Given the description of an element on the screen output the (x, y) to click on. 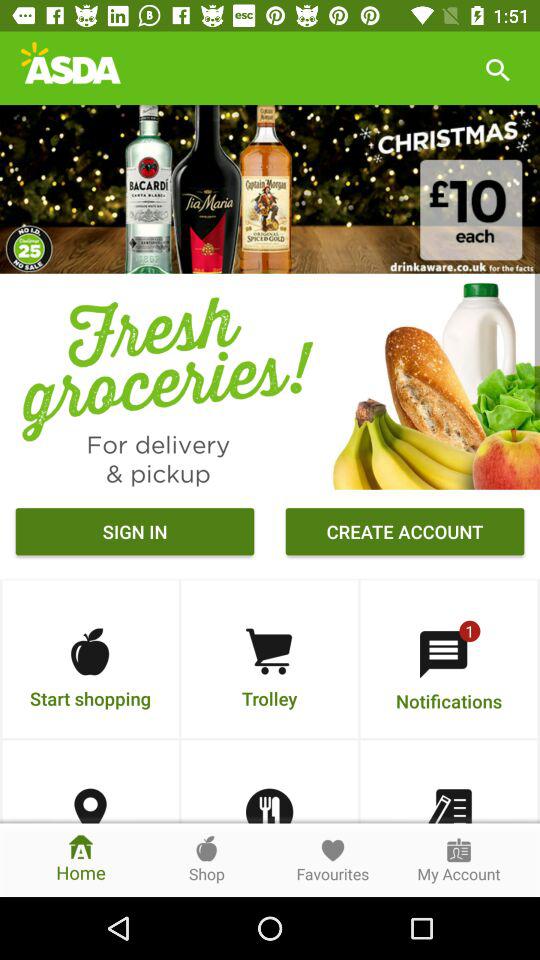
choose create account item (404, 534)
